Given the description of an element on the screen output the (x, y) to click on. 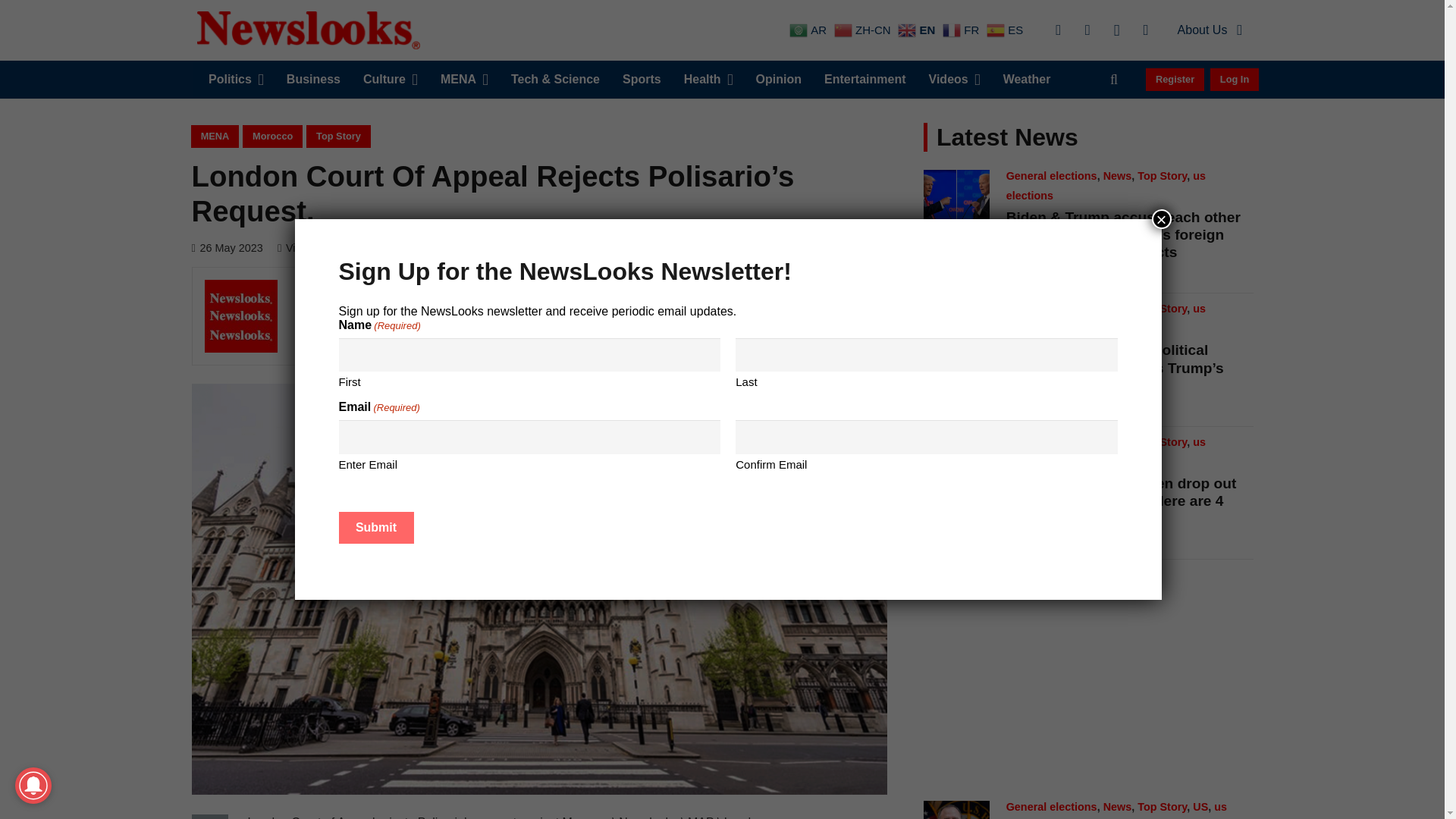
French (962, 29)
Instagram (1116, 30)
Arabic (809, 29)
YouTube (1145, 30)
EN (918, 29)
FR (962, 29)
Twitter (1087, 30)
ES (1006, 29)
English (918, 29)
Spanish (1006, 29)
ZH-CN (864, 29)
AR (809, 29)
Politics (235, 79)
Facebook (1058, 30)
About Us (1209, 30)
